Given the description of an element on the screen output the (x, y) to click on. 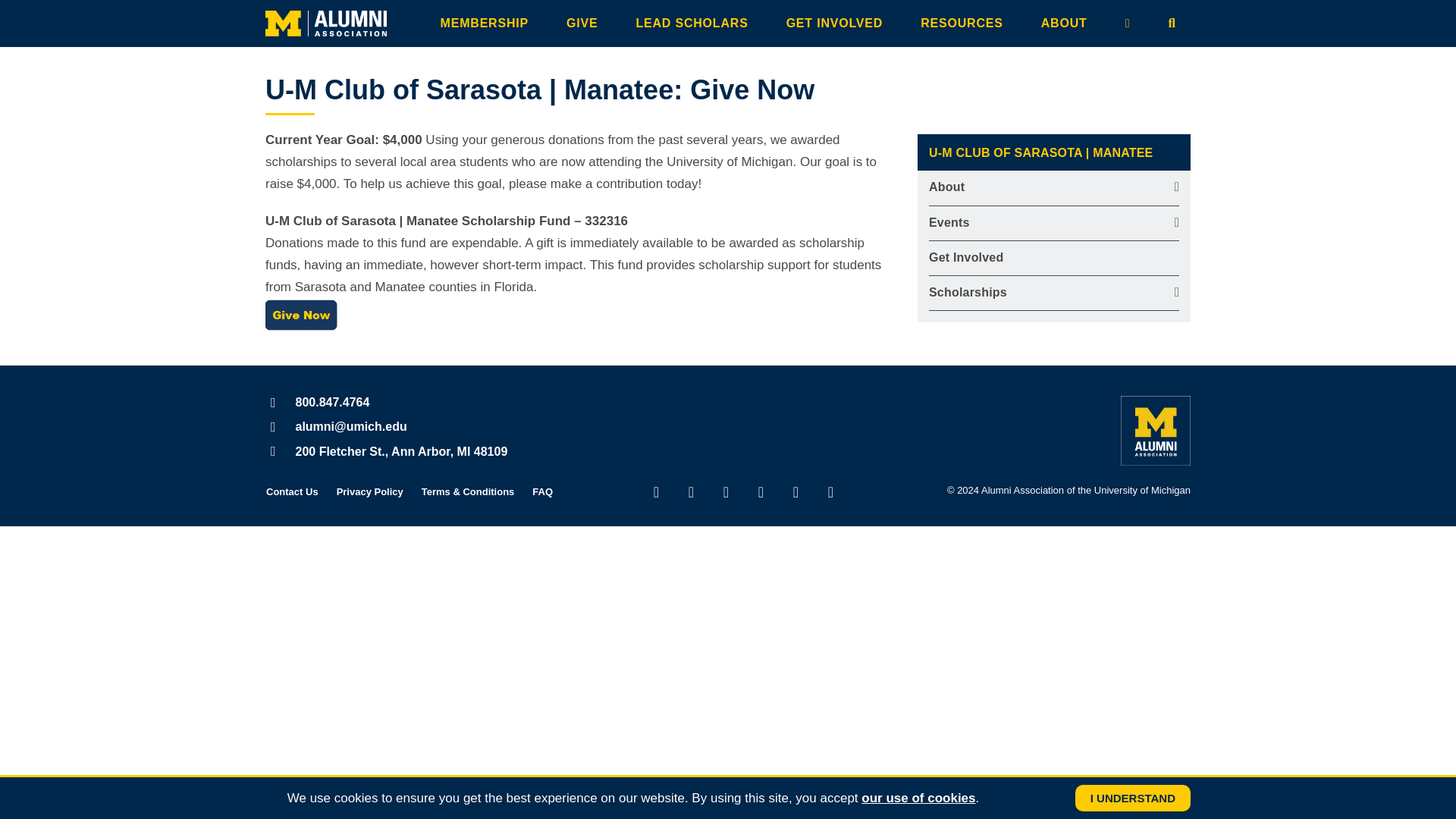
RESOURCES (965, 23)
LEAD SCHOLARS (695, 23)
GET INVOLVED (838, 23)
MEMBERSHIP (488, 23)
GIVE (585, 23)
